Given the description of an element on the screen output the (x, y) to click on. 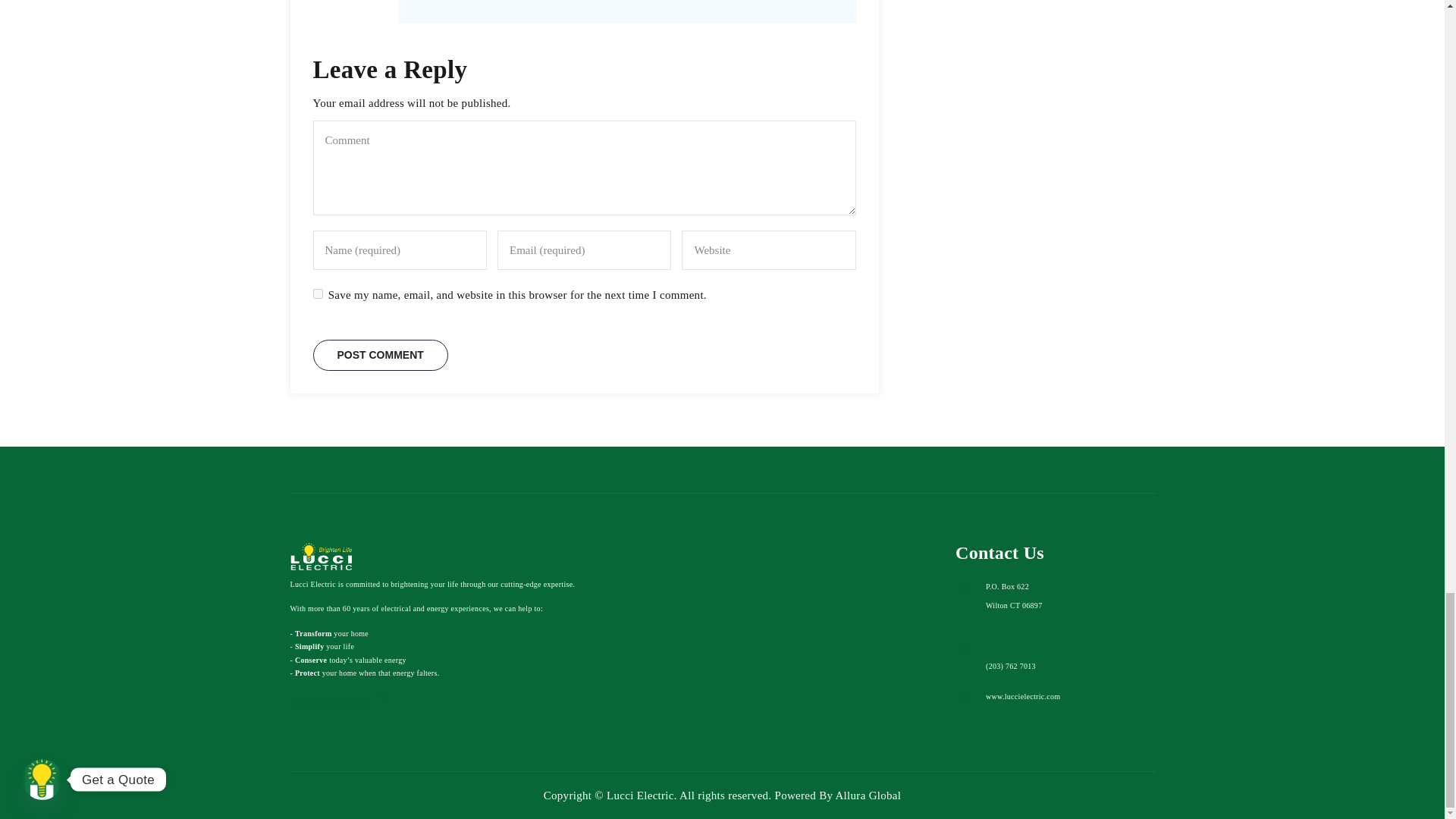
yes (317, 293)
Post Comment (379, 354)
